Given the description of an element on the screen output the (x, y) to click on. 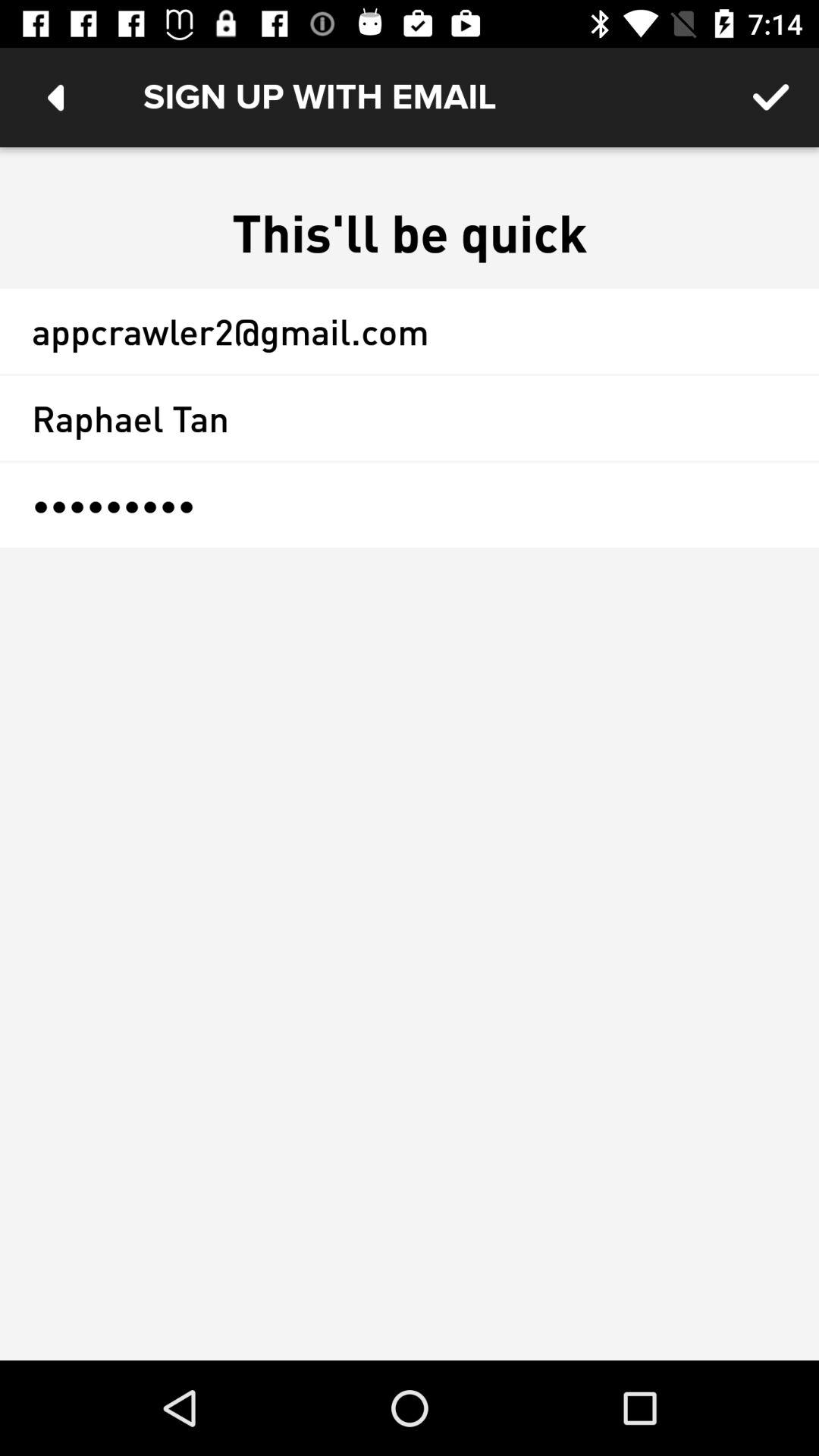
turn off icon next to the sign up with item (771, 97)
